Given the description of an element on the screen output the (x, y) to click on. 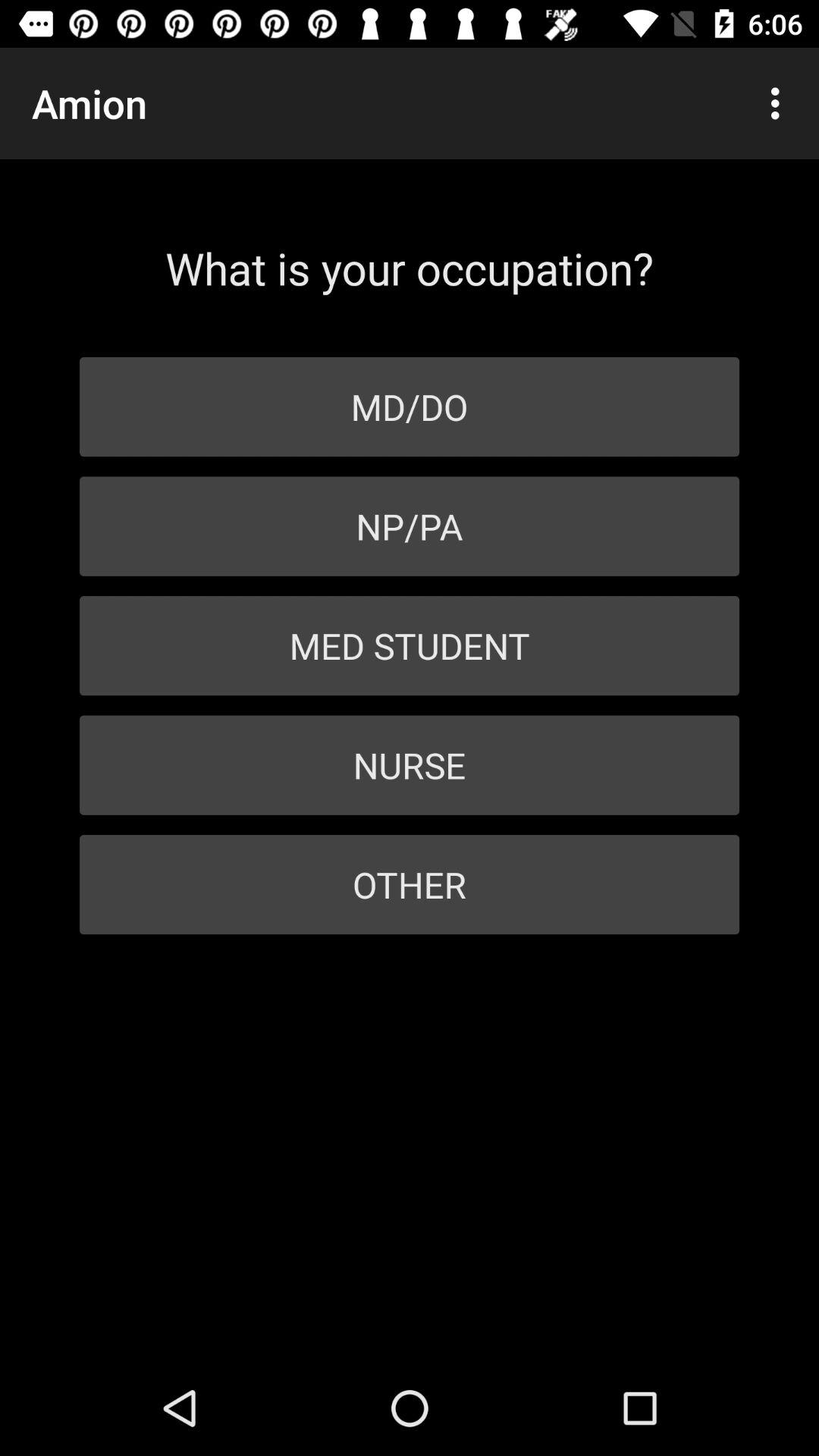
turn on the md/do (409, 406)
